Given the description of an element on the screen output the (x, y) to click on. 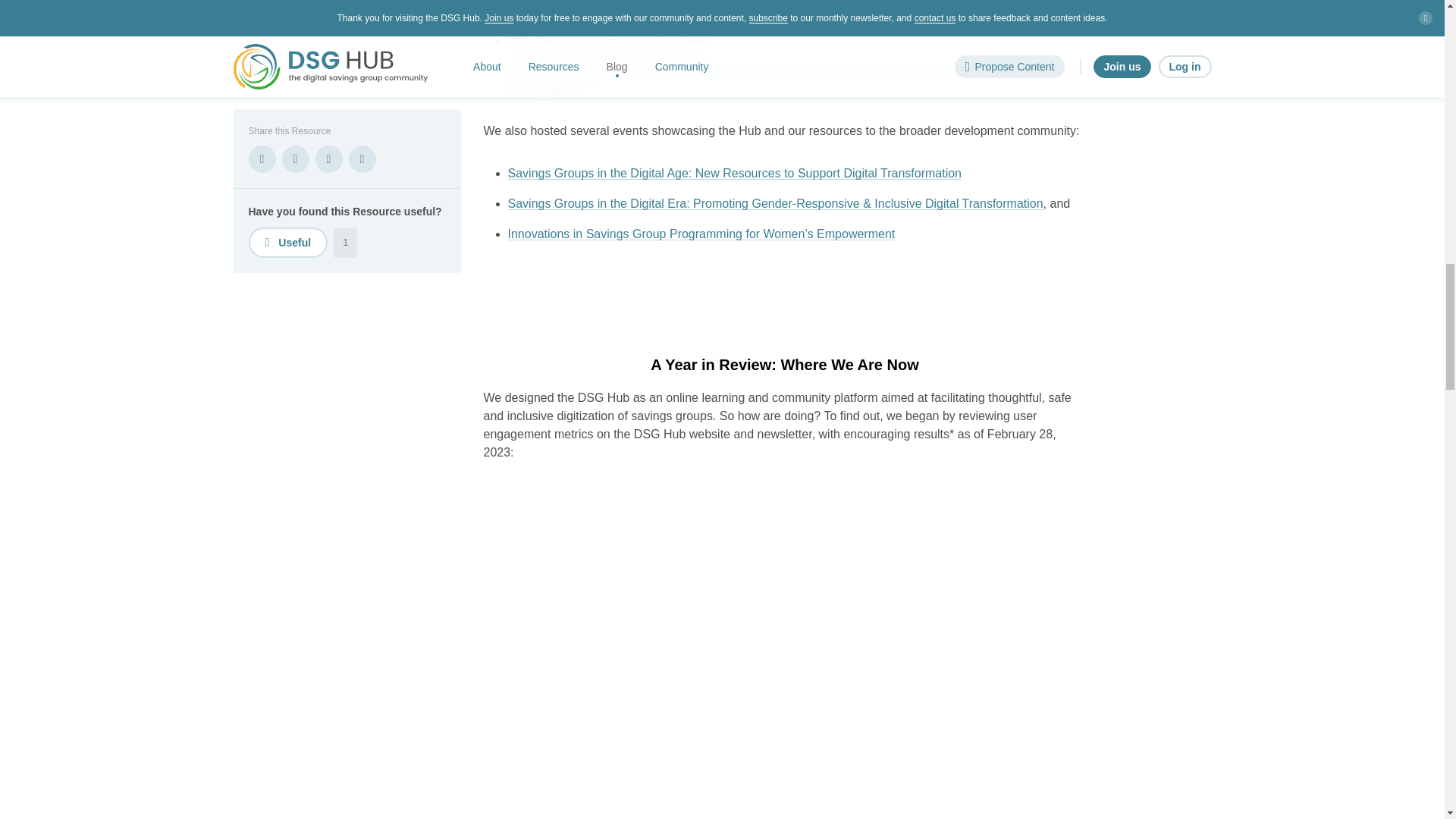
DSG Glossary: Key Concepts and Terms (618, 9)
DSG Vendors and Products Tool (595, 39)
Kinyarwanda (543, 88)
